Given the description of an element on the screen output the (x, y) to click on. 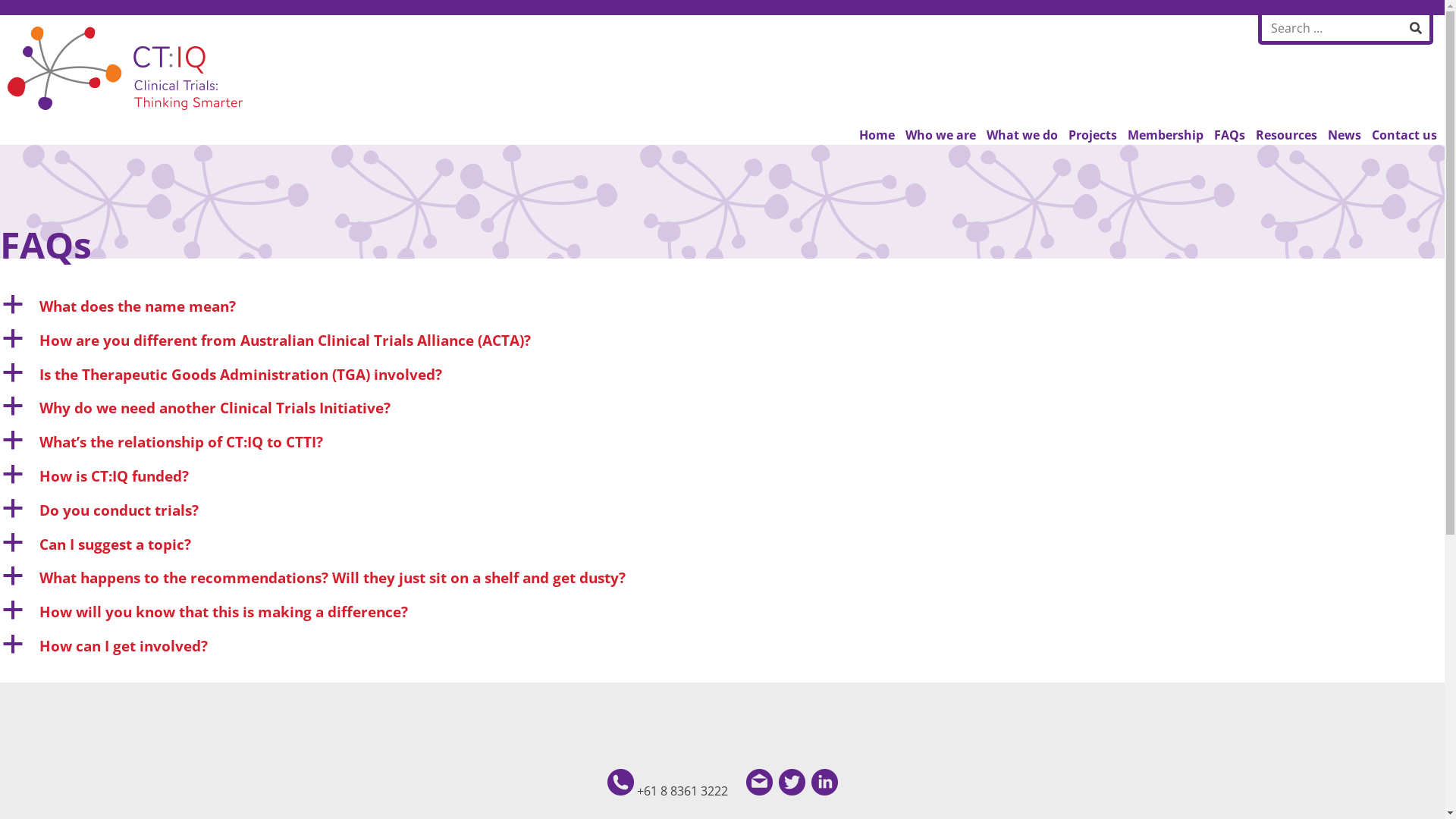
CT:IQ Clinical Trials Element type: text (60, 135)
Projects Element type: text (1092, 134)
What we do Element type: text (1021, 134)
Home Element type: text (876, 134)
FAQs Element type: text (1229, 134)
a
Can I suggest a topic? Element type: text (722, 544)
Resources Element type: text (1286, 134)
a
Why do we need another Clinical Trials Initiative? Element type: text (722, 408)
News Element type: text (1344, 134)
a
How can I get involved? Element type: text (722, 646)
a
How will you know that this is making a difference? Element type: text (722, 612)
a
What does the name mean? Element type: text (722, 306)
Who we are Element type: text (940, 134)
Membership Element type: text (1165, 134)
Contact us Element type: text (1404, 134)
a
How is CT:IQ funded? Element type: text (722, 476)
a
Do you conduct trials? Element type: text (722, 510)
a
Is the Therapeutic Goods Administration (TGA) involved? Element type: text (722, 374)
